Given the description of an element on the screen output the (x, y) to click on. 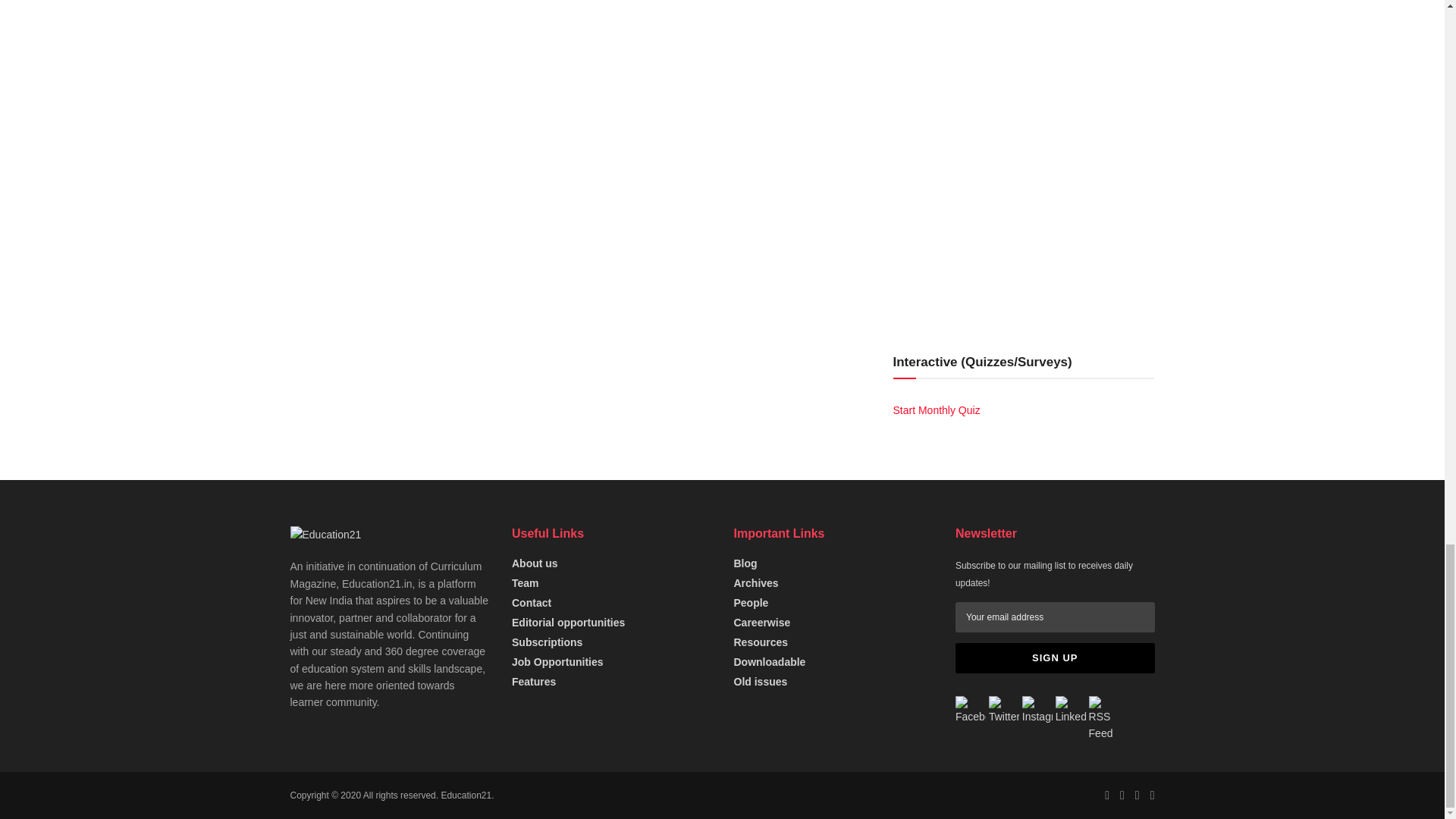
Sign up (1054, 657)
Twitter (1003, 711)
Facebook (970, 711)
